Given the description of an element on the screen output the (x, y) to click on. 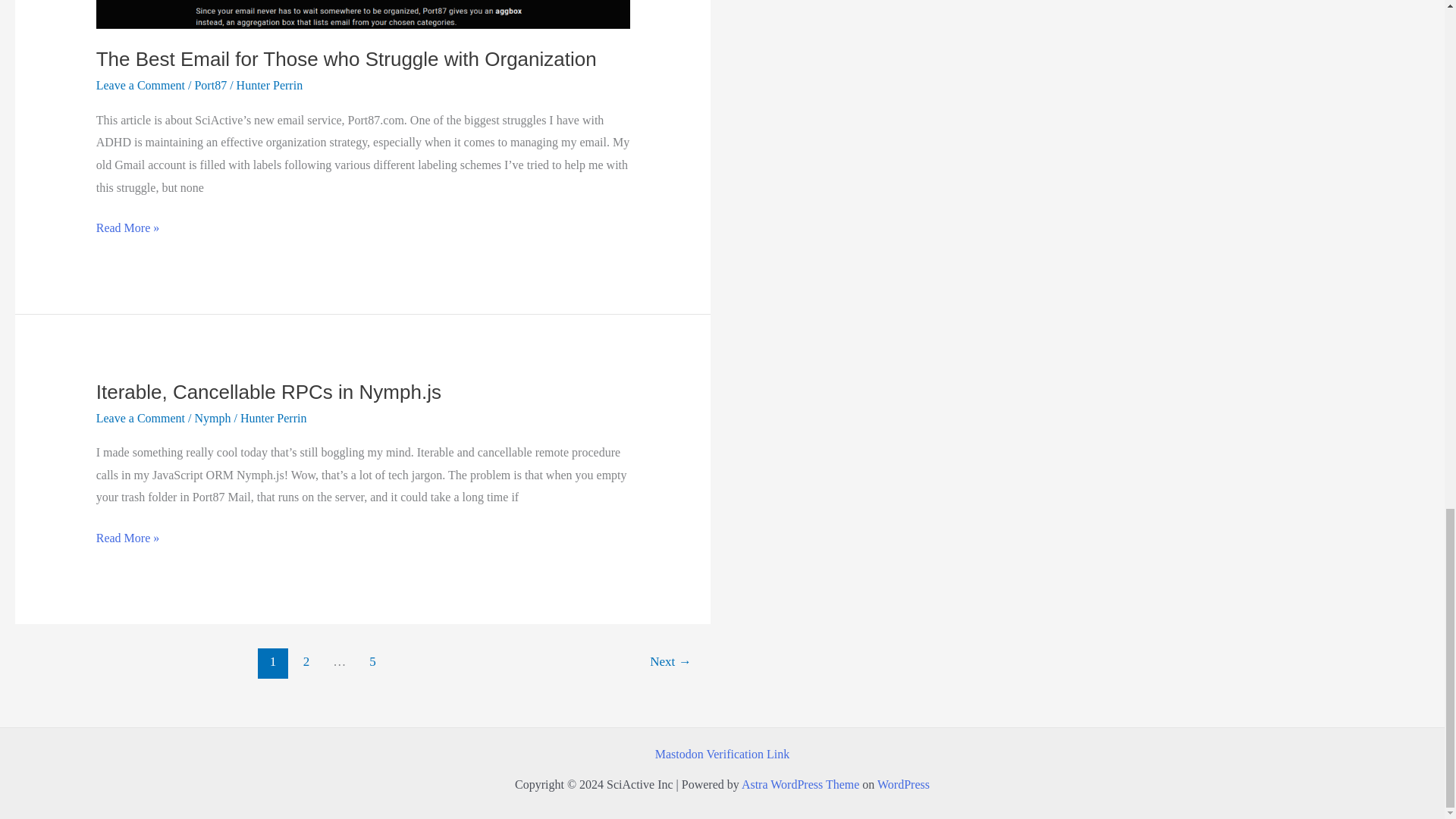
The Best Email for Those who Struggle with Organization (346, 58)
Port87 (210, 84)
View all posts by Hunter Perrin (273, 418)
Hunter Perrin (273, 418)
Leave a Comment (140, 84)
2 (306, 663)
Leave a Comment (140, 418)
Hunter Perrin (268, 84)
Iterable, Cancellable RPCs in Nymph.js (268, 391)
Nymph (211, 418)
View all posts by Hunter Perrin (268, 84)
